Given the description of an element on the screen output the (x, y) to click on. 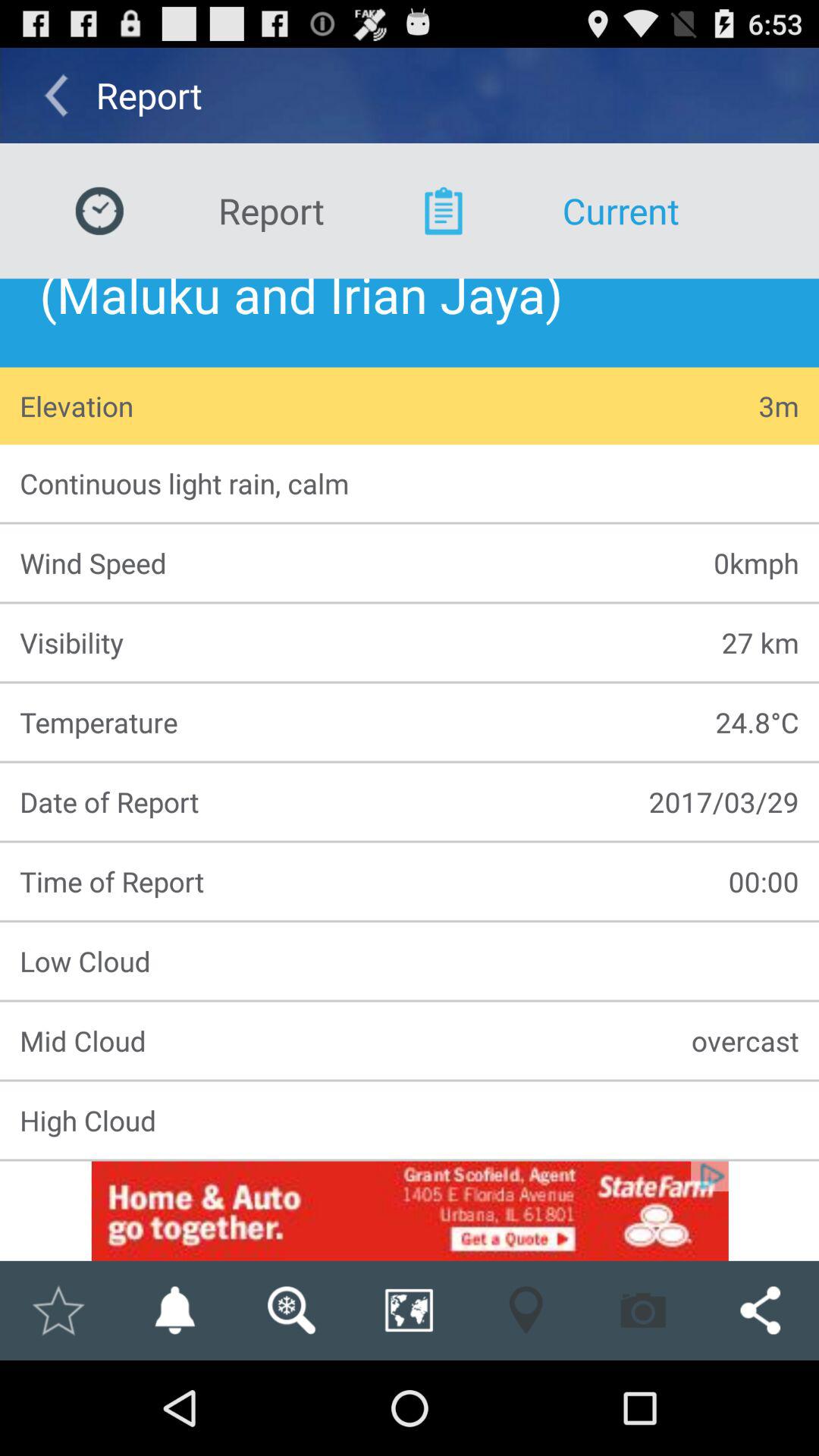
camara button (642, 1310)
